Given the description of an element on the screen output the (x, y) to click on. 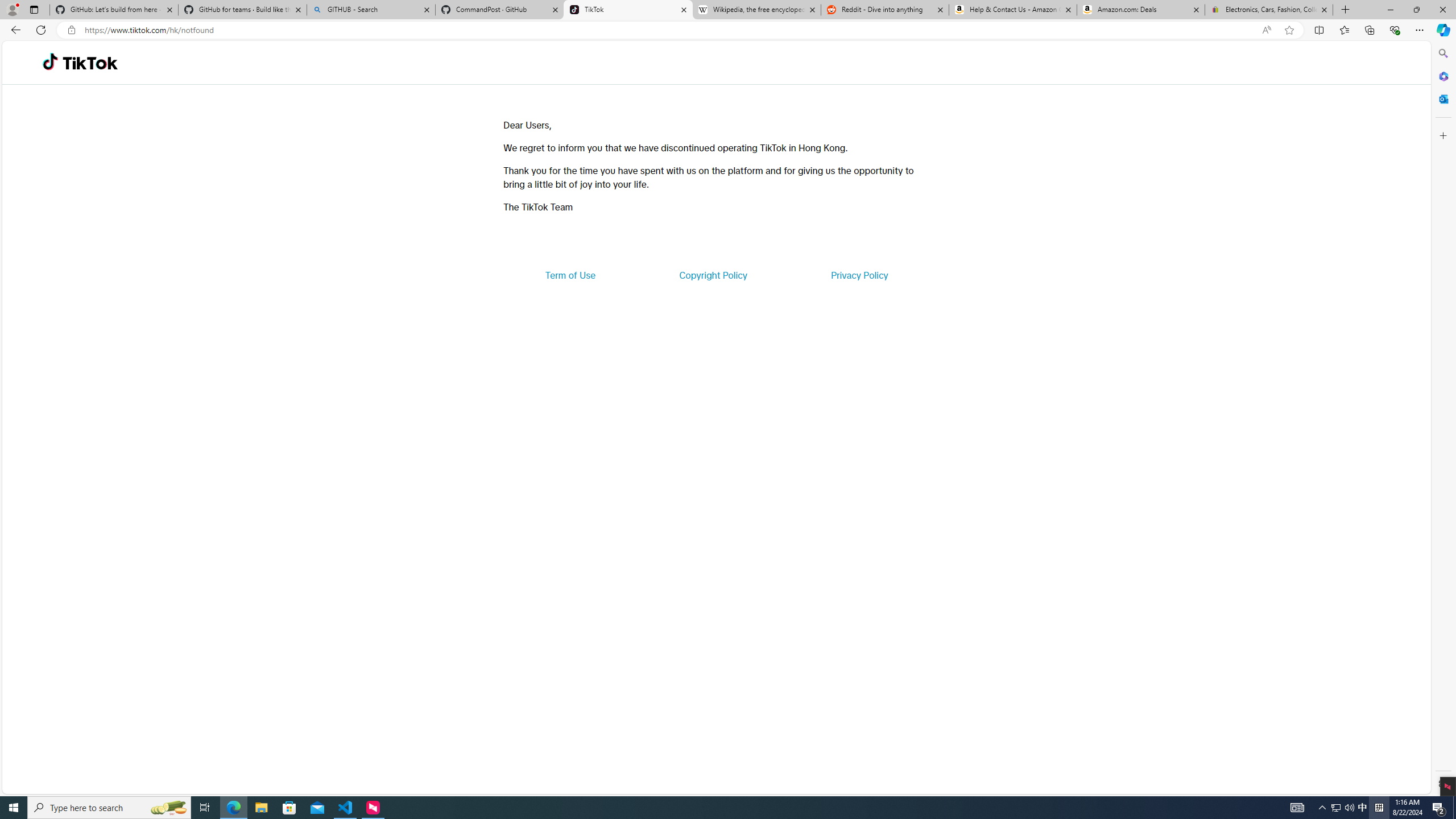
Wikipedia, the free encyclopedia (756, 9)
Term of Use (569, 274)
